Given the description of an element on the screen output the (x, y) to click on. 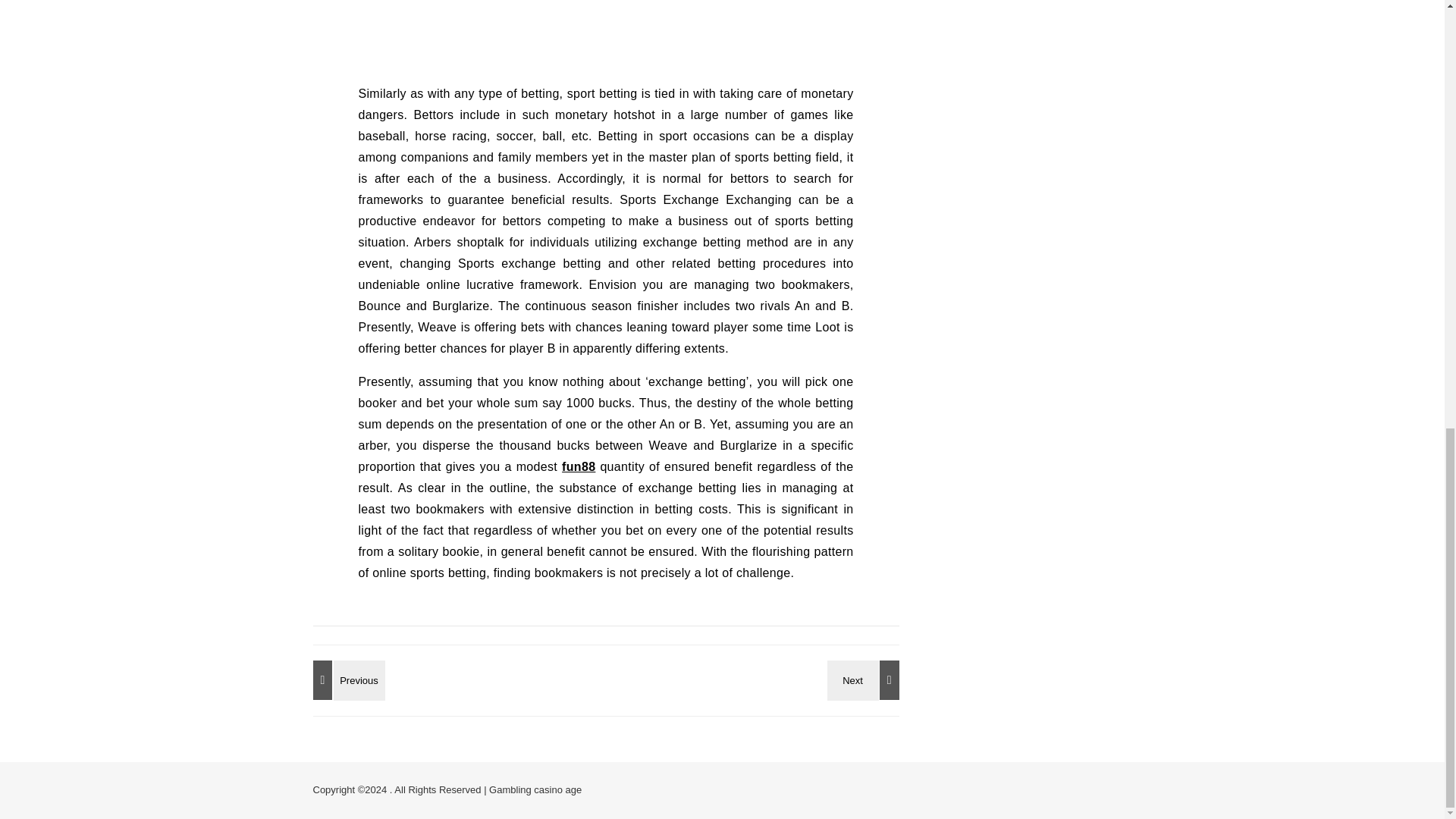
The help you with perceiving Slot Ekings Gambling Site (346, 680)
fun88 (578, 466)
Perceive free play online casino club with online club areas (865, 680)
